Given the description of an element on the screen output the (x, y) to click on. 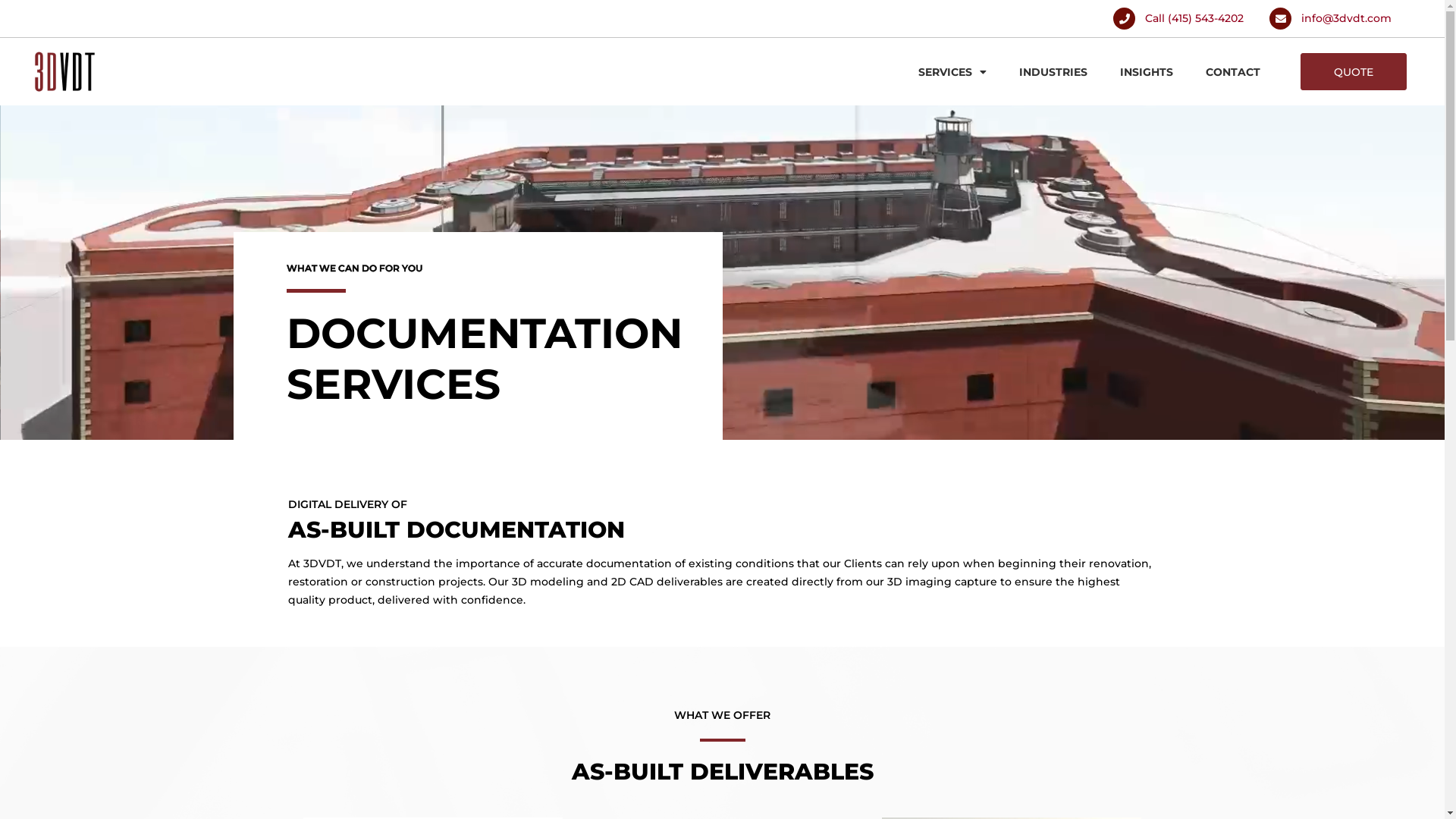
info@3dvdt.com Element type: text (1330, 18)
CONTACT Element type: text (1232, 71)
INDUSTRIES Element type: text (1053, 71)
INSIGHTS Element type: text (1146, 71)
SERVICES Element type: text (952, 71)
QUOTE Element type: text (1353, 71)
Call (415) 543-4202 Element type: text (1178, 18)
